Given the description of an element on the screen output the (x, y) to click on. 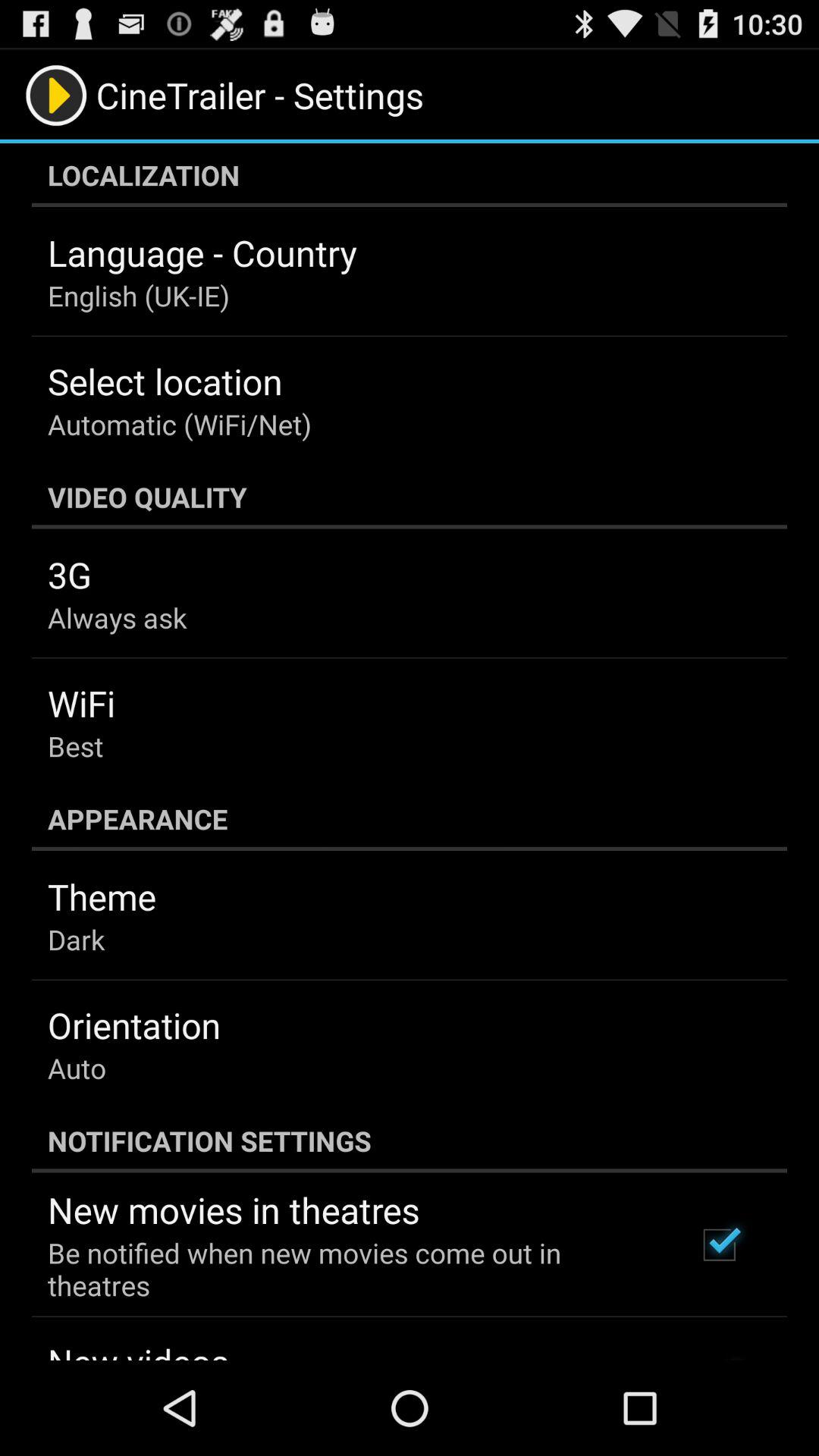
select the orientation item (133, 1025)
